Given the description of an element on the screen output the (x, y) to click on. 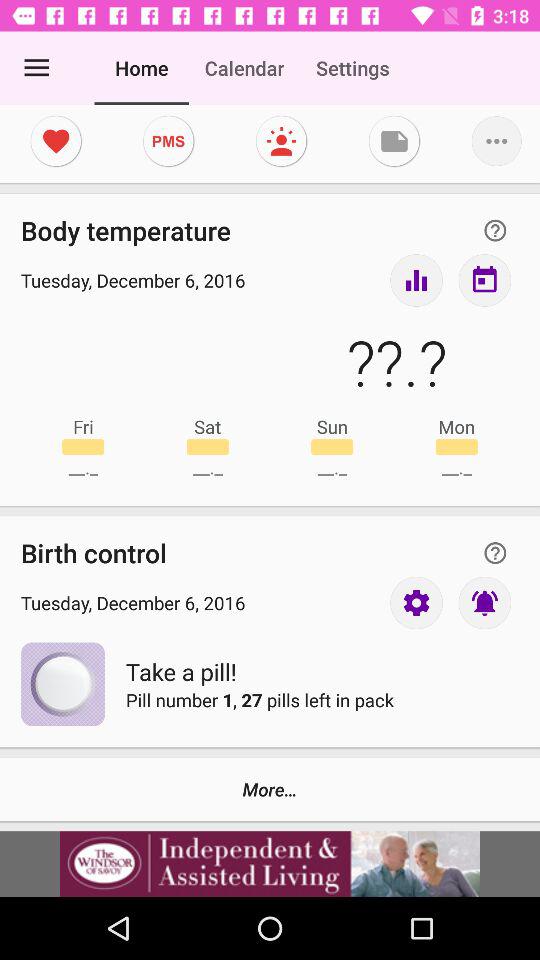
tour option (416, 280)
